Given the description of an element on the screen output the (x, y) to click on. 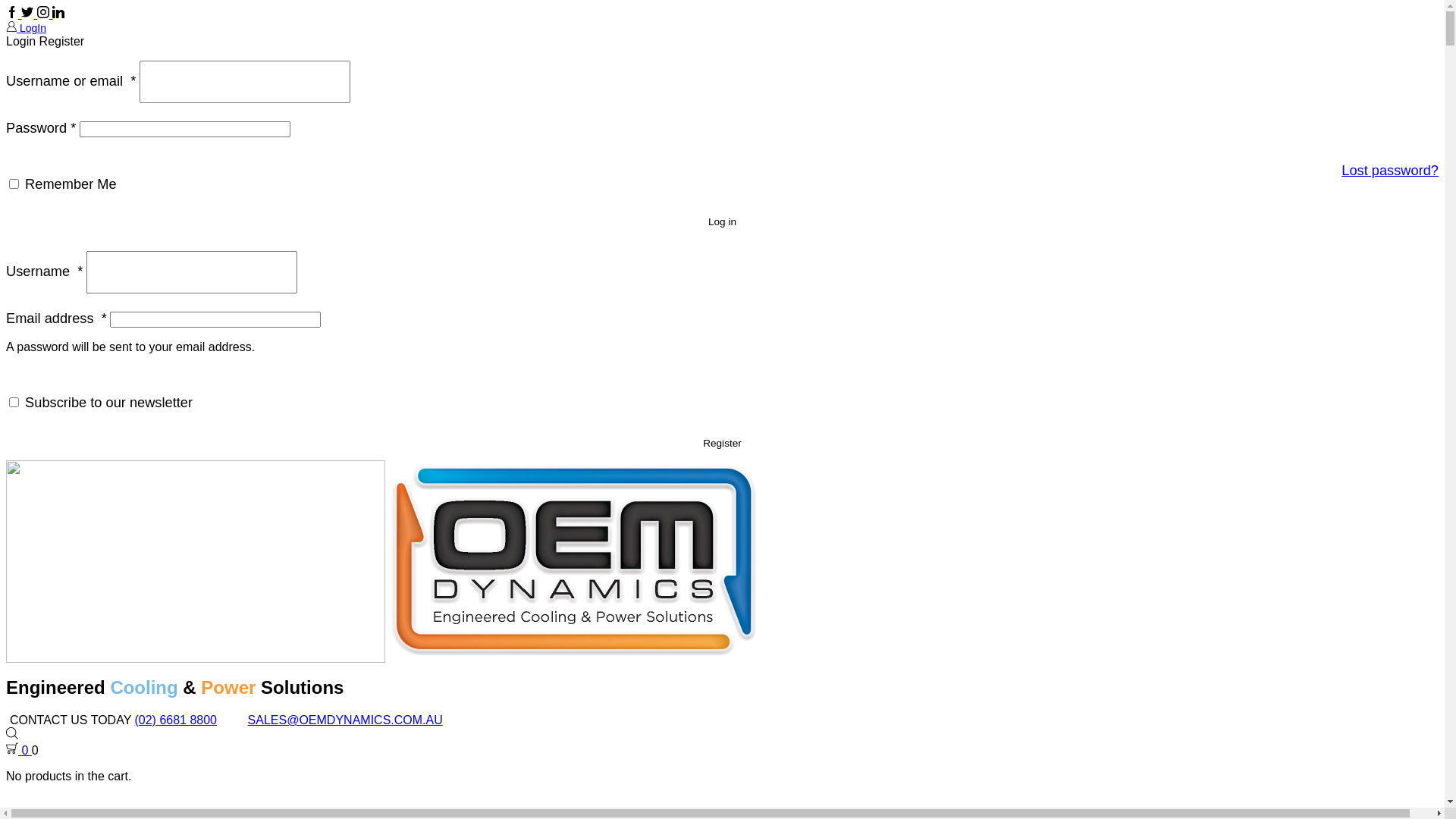
Log in Element type: text (722, 221)
SALES@OEMDYNAMICS.COM.AU Element type: text (344, 719)
Linkedin Element type: text (58, 13)
Lost password? Element type: text (1079, 170)
Facebook Element type: text (13, 13)
username Element type: hover (244, 81)
Twitter Element type: text (28, 13)
0 Element type: text (18, 749)
Register Element type: text (722, 443)
(02) 6681 8800 Element type: text (175, 719)
Instagram Element type: text (44, 13)
LogIn Element type: text (26, 27)
